Given the description of an element on the screen output the (x, y) to click on. 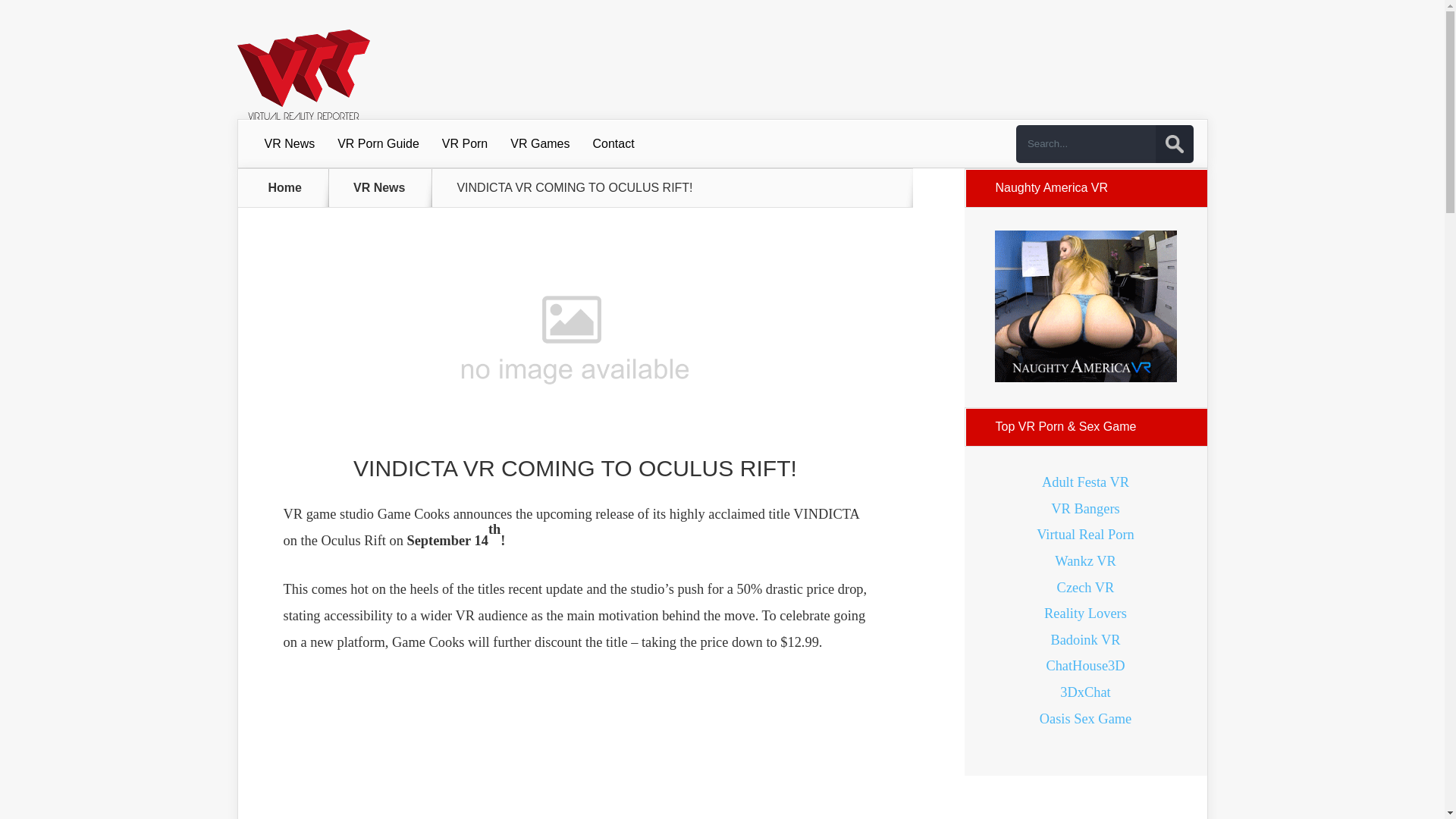
VR Games (539, 143)
Virtual Real Porn (1085, 534)
VR News (388, 187)
VR News (289, 143)
Reality Lovers (1084, 613)
Contact (613, 143)
Wankz VR (1084, 560)
VR Porn Guide (378, 143)
ChatHouse3D (1084, 665)
VR Bangers (1085, 508)
